Given the description of an element on the screen output the (x, y) to click on. 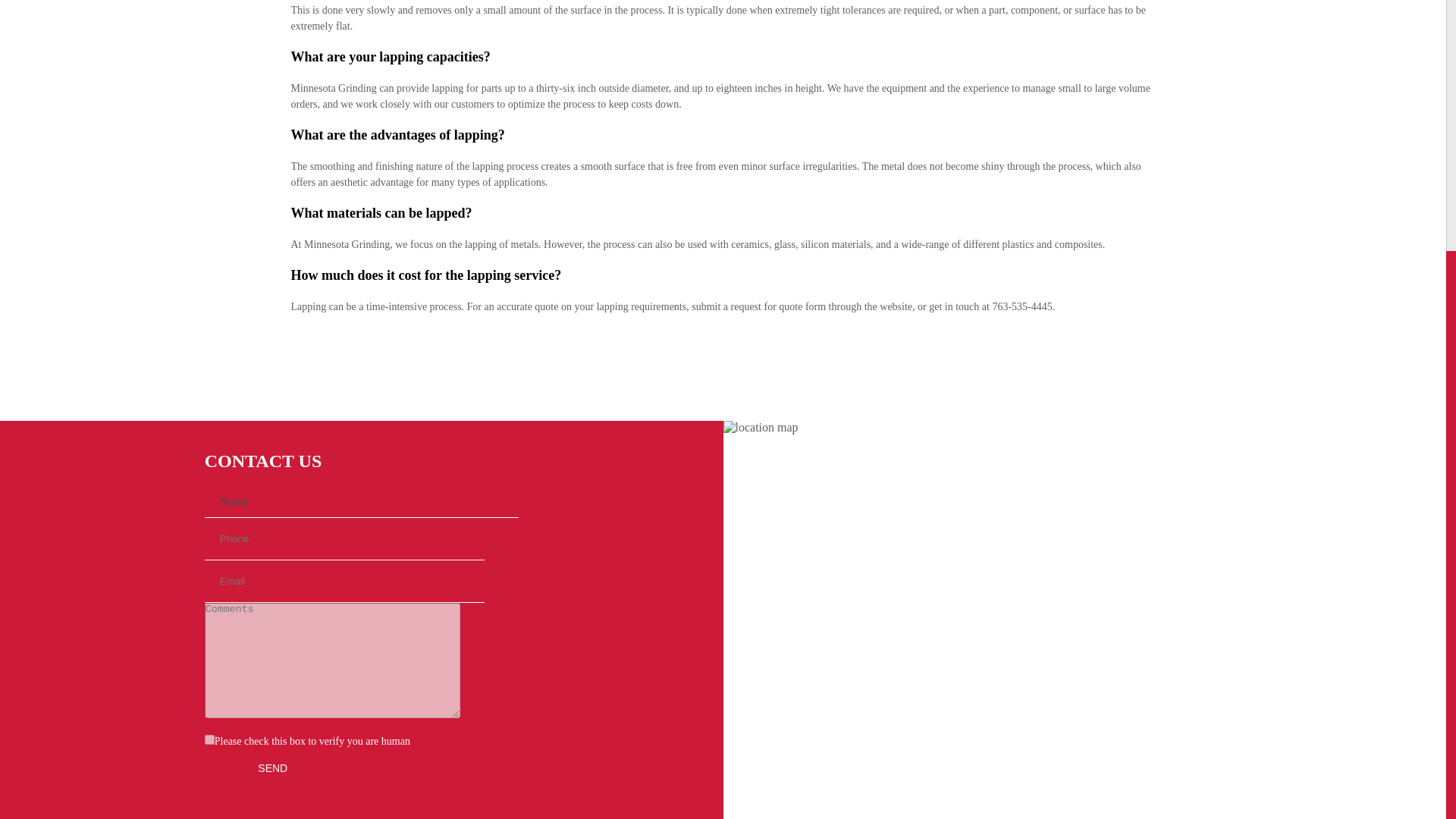
Please check this box to verify you are human (209, 739)
SEND (272, 767)
SEND (272, 767)
